Given the description of an element on the screen output the (x, y) to click on. 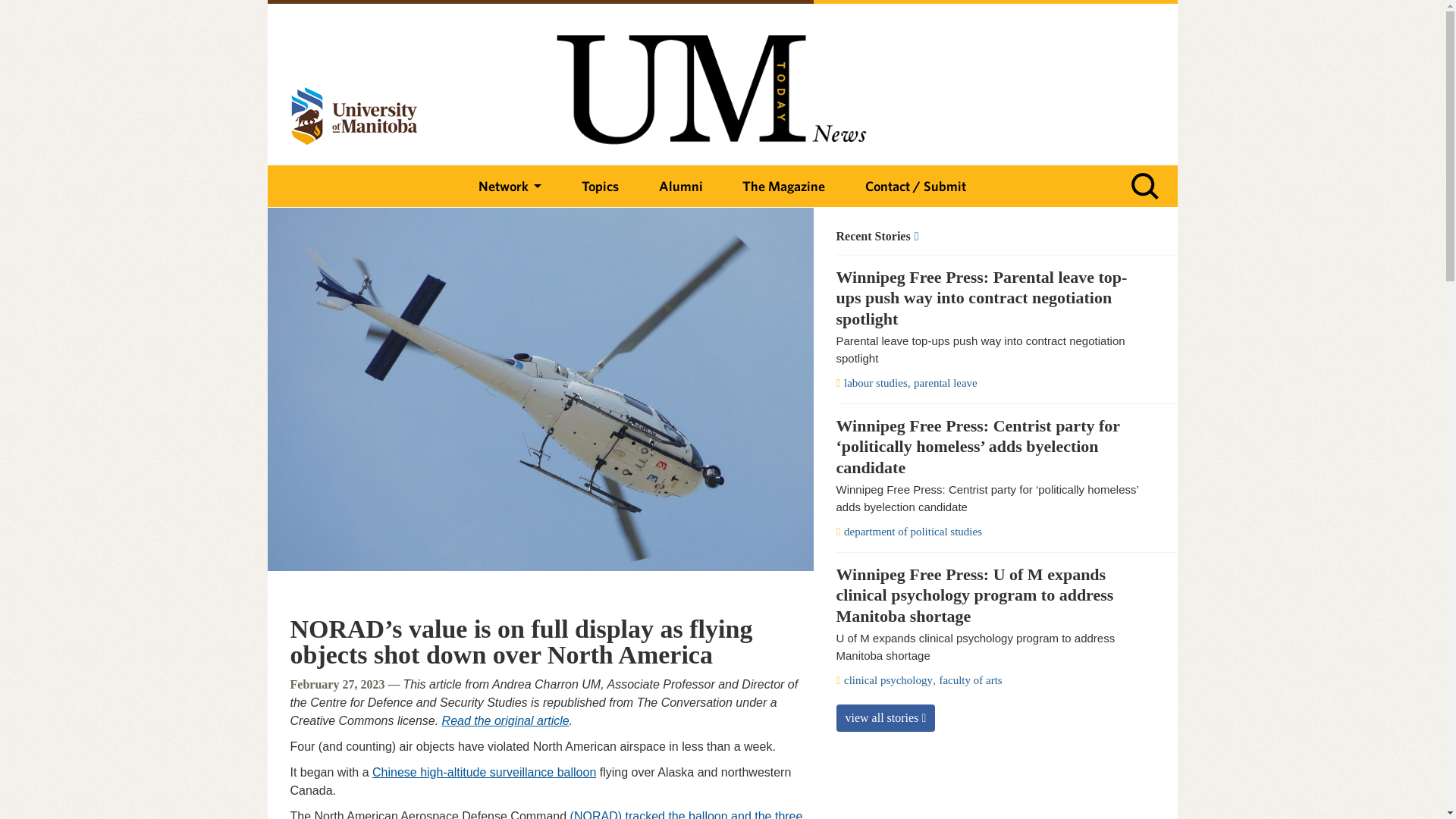
News Archives (986, 236)
Network (510, 186)
